Given the description of an element on the screen output the (x, y) to click on. 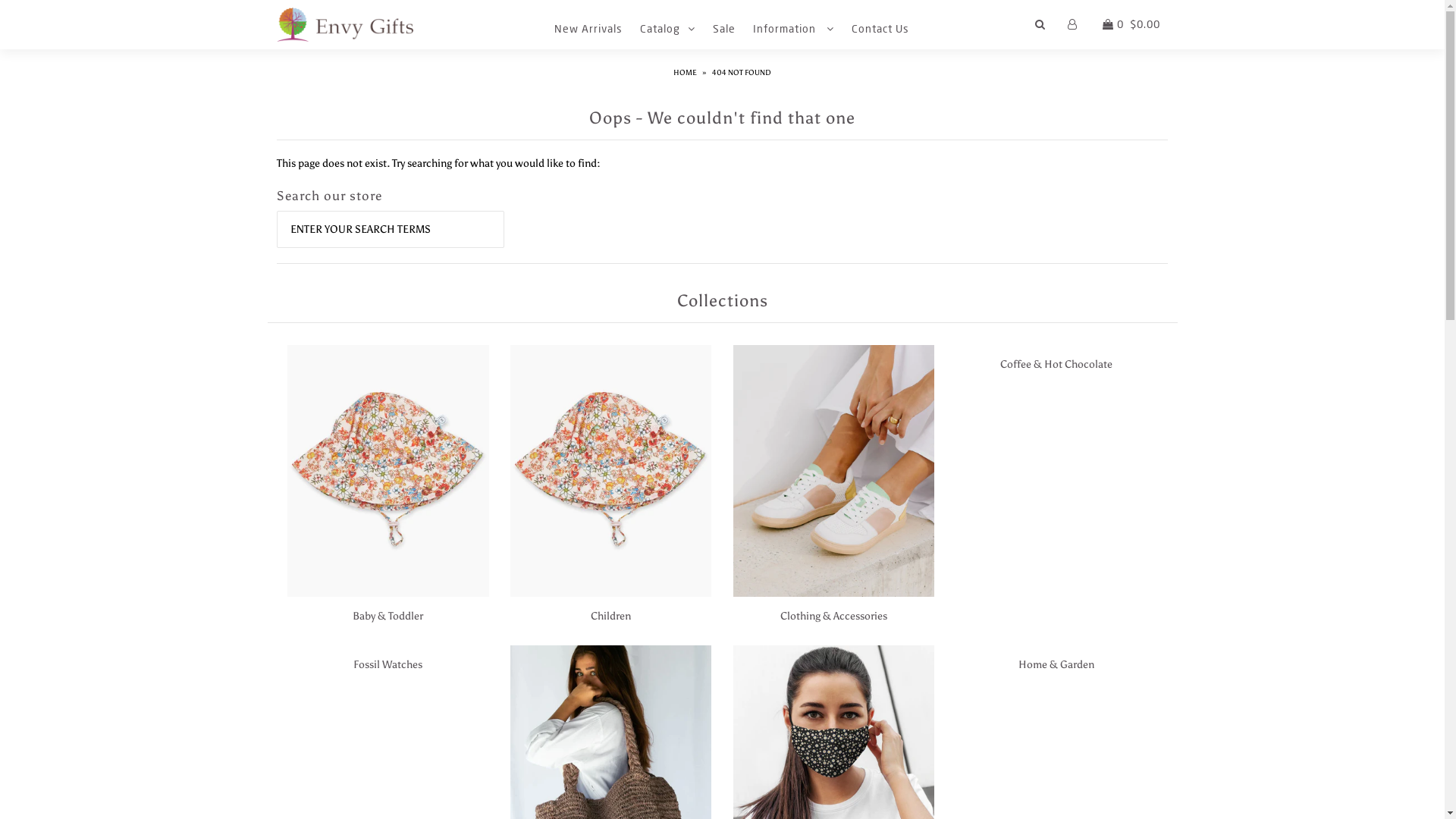
Fossil Watches Element type: text (387, 664)
Clothing & Accessories Element type: text (833, 615)
Sale Element type: text (724, 27)
Catalog Element type: text (667, 27)
Children Element type: text (610, 615)
HOME Element type: text (686, 72)
Home & Garden Element type: text (1056, 664)
Contact Us Element type: text (880, 27)
Coffee & Hot Chocolate Element type: text (1056, 363)
Baby & Toddler Element type: text (387, 615)
  0  $0.00 Element type: text (1129, 23)
Information Element type: text (793, 27)
New Arrivals Element type: text (588, 27)
